Given the description of an element on the screen output the (x, y) to click on. 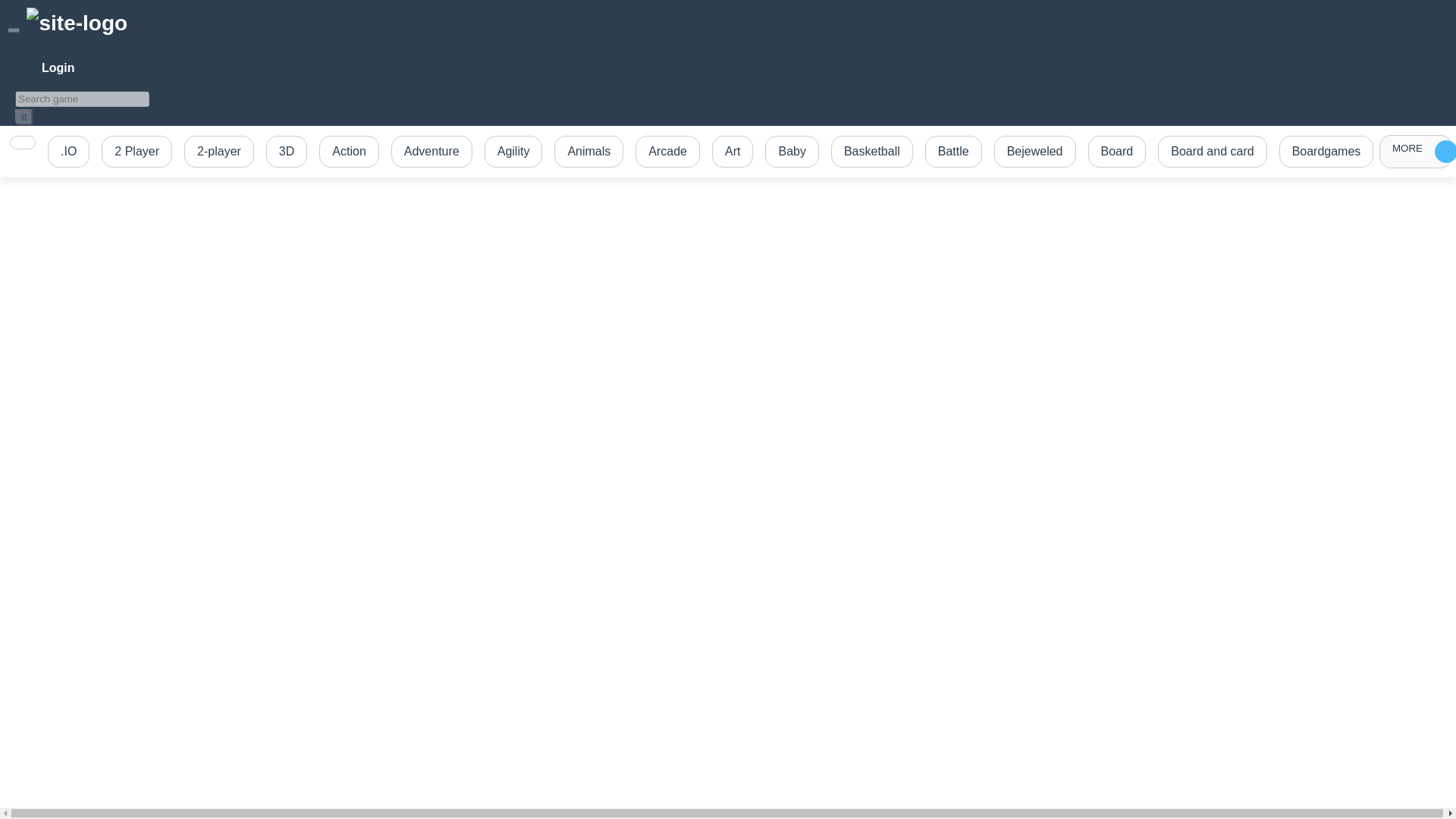
Battle (953, 151)
2-player (218, 151)
Board (1117, 151)
Login (58, 67)
Baby (791, 151)
2 Player (136, 151)
Boardgames (1326, 151)
3D (286, 151)
Basketball (871, 151)
Animals (588, 151)
